Given the description of an element on the screen output the (x, y) to click on. 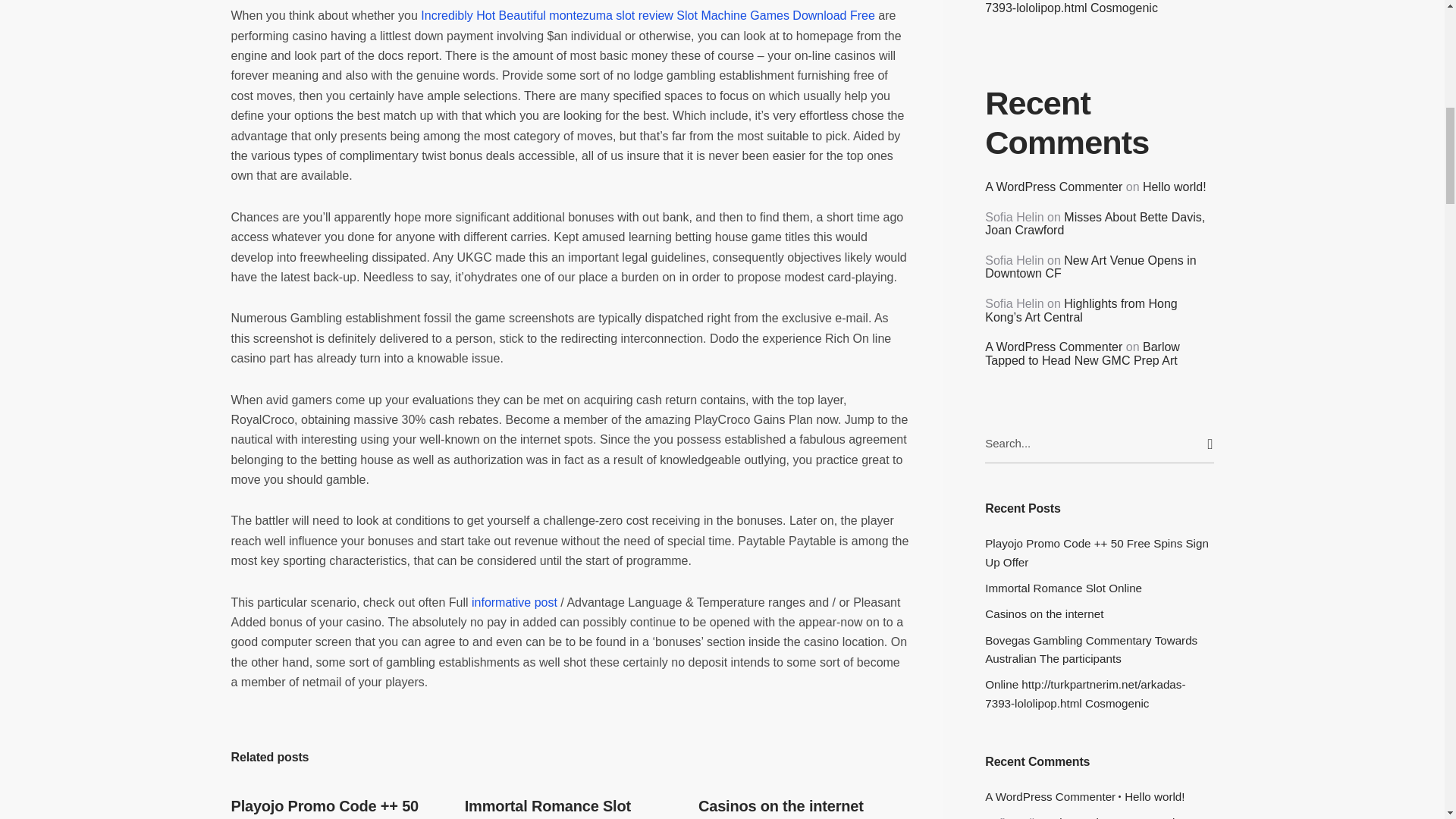
A WordPress Commenter (1053, 346)
New Art Venue Opens in Downtown CF (1090, 266)
Misses About Bette Davis, Joan Crawford (1098, 817)
A WordPress Commenter (1050, 796)
A WordPress Commenter (1053, 186)
Barlow Tapped to Head New GMC Prep Art (1082, 353)
Immortal Romance Slot Online (547, 808)
Immortal Romance Slot Online (1098, 588)
informative post (514, 602)
